Given the description of an element on the screen output the (x, y) to click on. 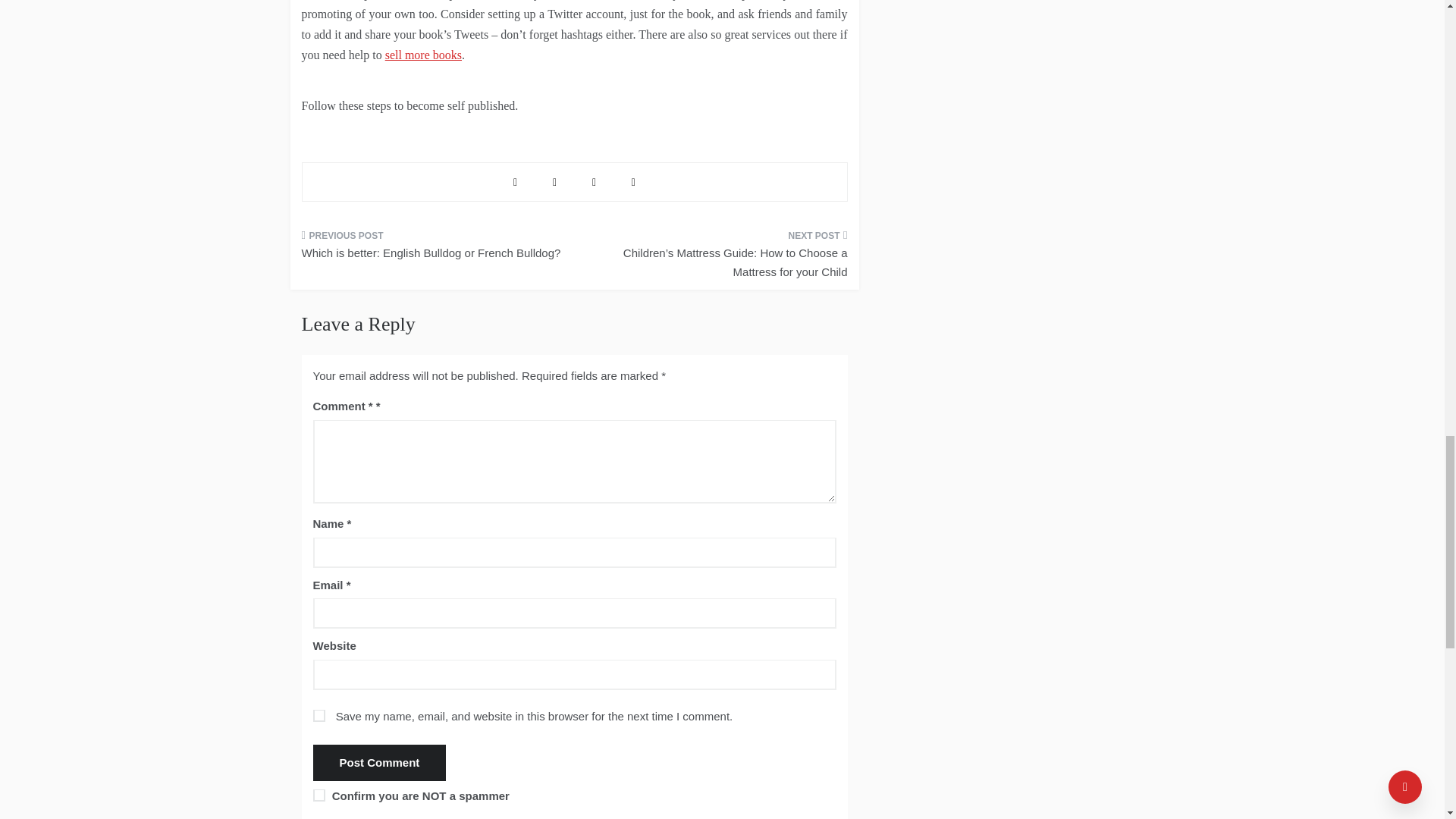
Post Comment (379, 762)
on (318, 795)
Post Comment (379, 762)
yes (318, 715)
sell more books (423, 54)
Which is better: English Bulldog or French Bulldog? (432, 249)
